Given the description of an element on the screen output the (x, y) to click on. 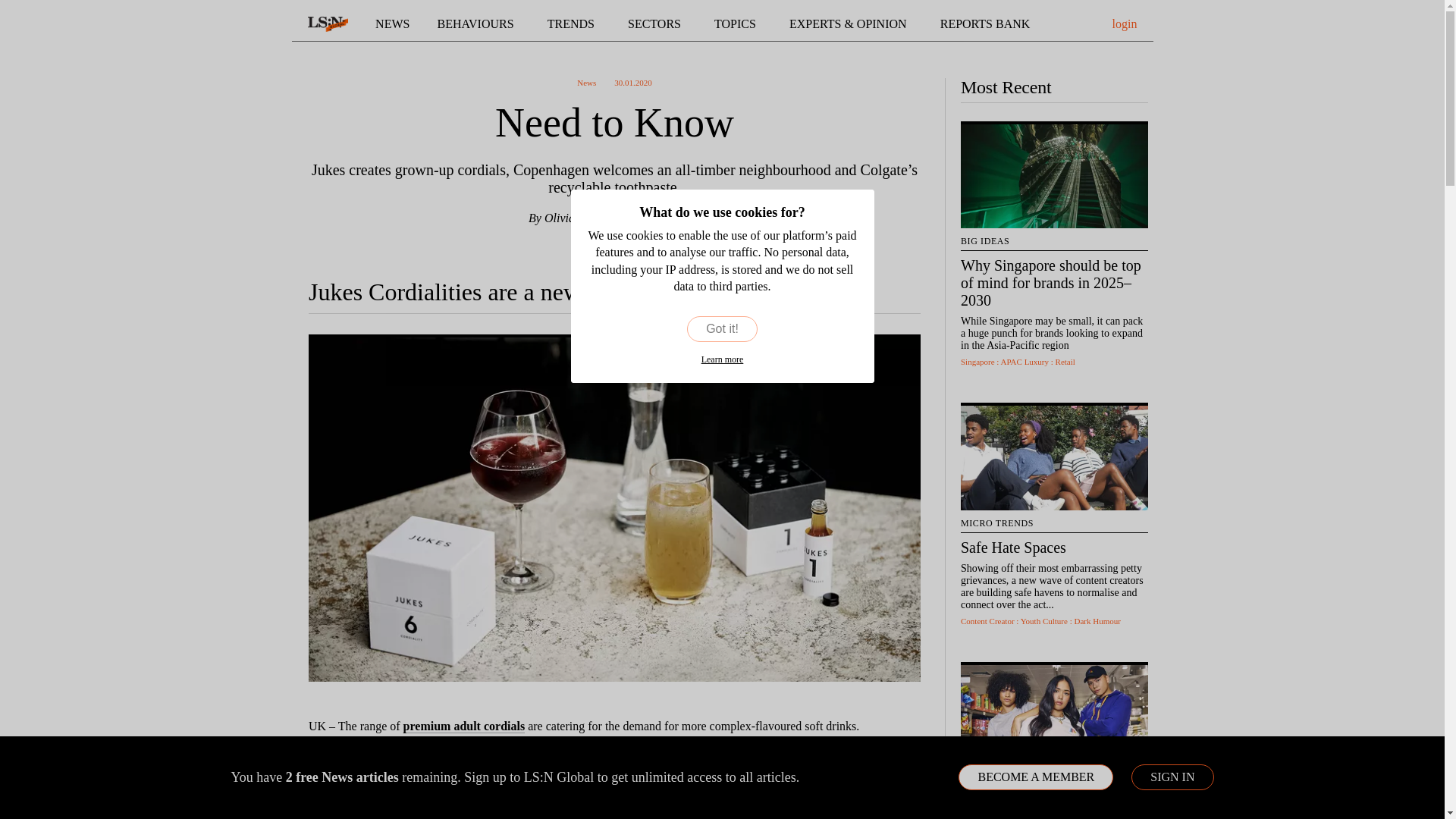
LS:N Global (327, 24)
Trends (573, 24)
TRENDS (573, 24)
BEHAVIOURS (478, 24)
NEWS (392, 24)
Behaviours (478, 24)
News (392, 24)
